Given the description of an element on the screen output the (x, y) to click on. 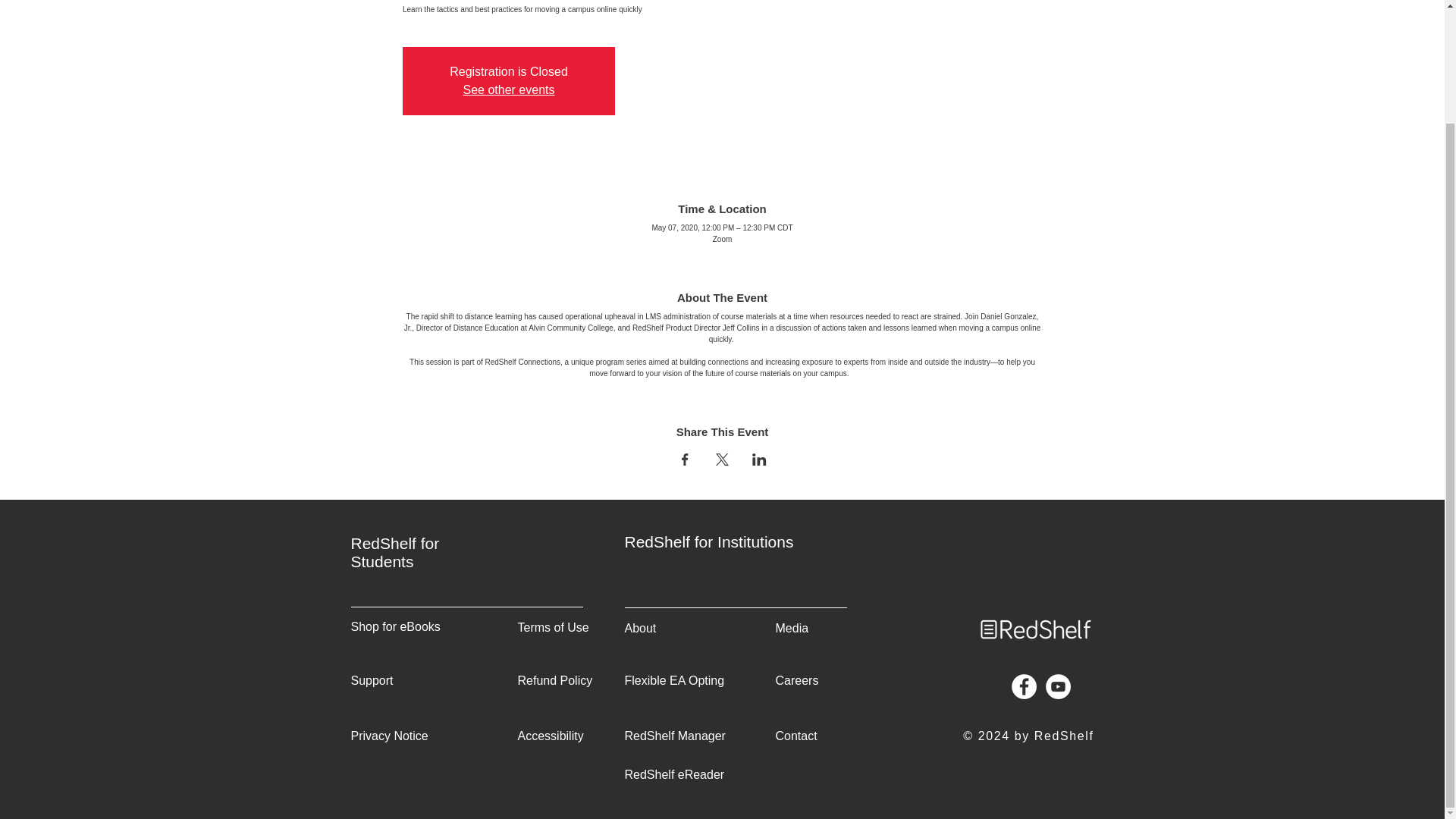
Media (791, 627)
Support (371, 680)
Privacy Notice (389, 735)
Careers (796, 680)
Contact (795, 735)
Shop for eBooks (394, 626)
RedShelf eReader (674, 774)
Flexible EA Opting (674, 680)
RedShelf Manager (674, 735)
Refund Policy (554, 680)
